Given the description of an element on the screen output the (x, y) to click on. 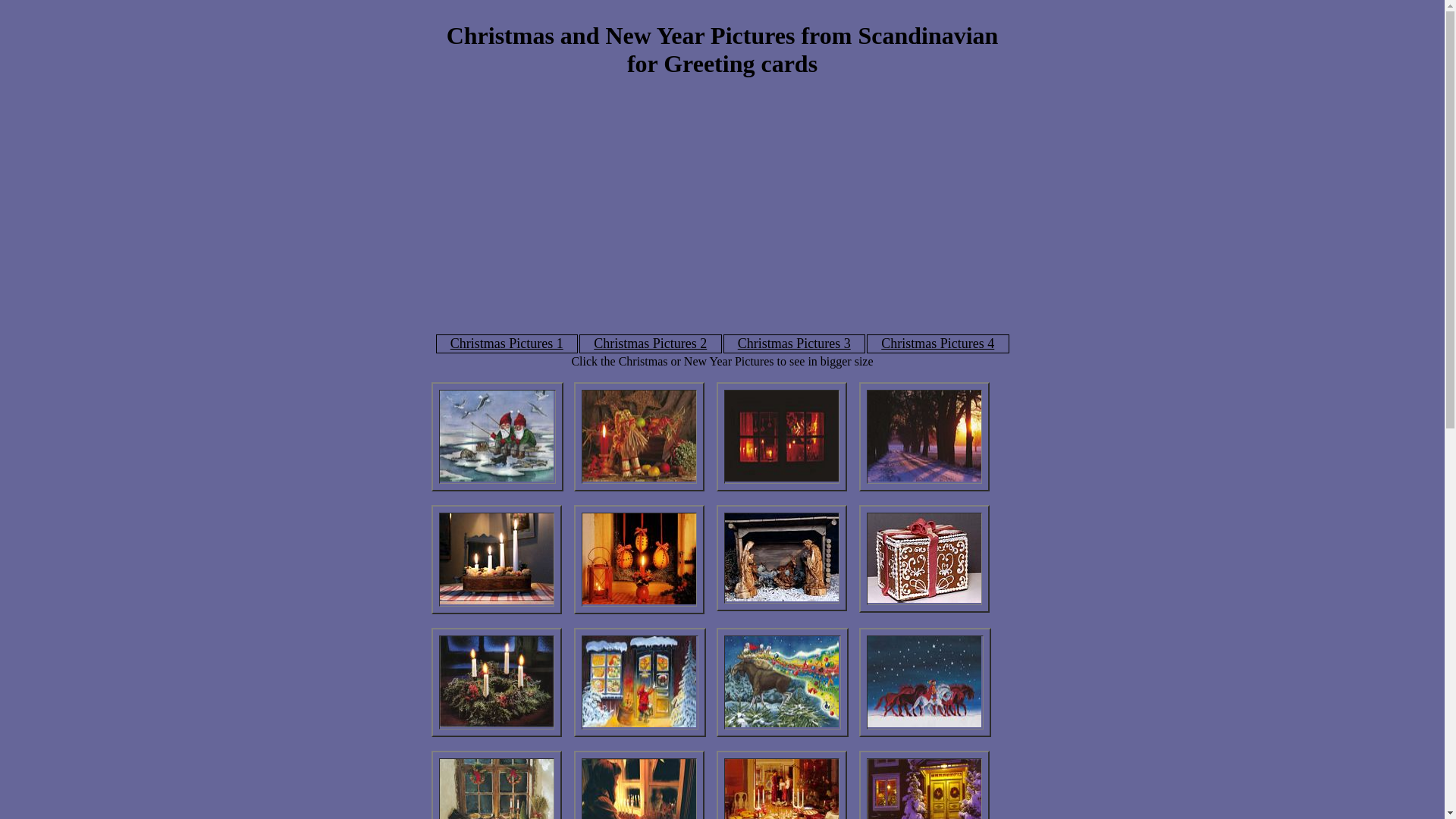
Advertisement Element type: hover (721, 200)
Christmas Pictures 4 Element type: text (937, 343)
Christmas Pictures 1 Element type: text (506, 343)
Christmas Pictures 3 Element type: text (793, 343)
Christmas Pictures 2 Element type: text (649, 343)
